Given the description of an element on the screen output the (x, y) to click on. 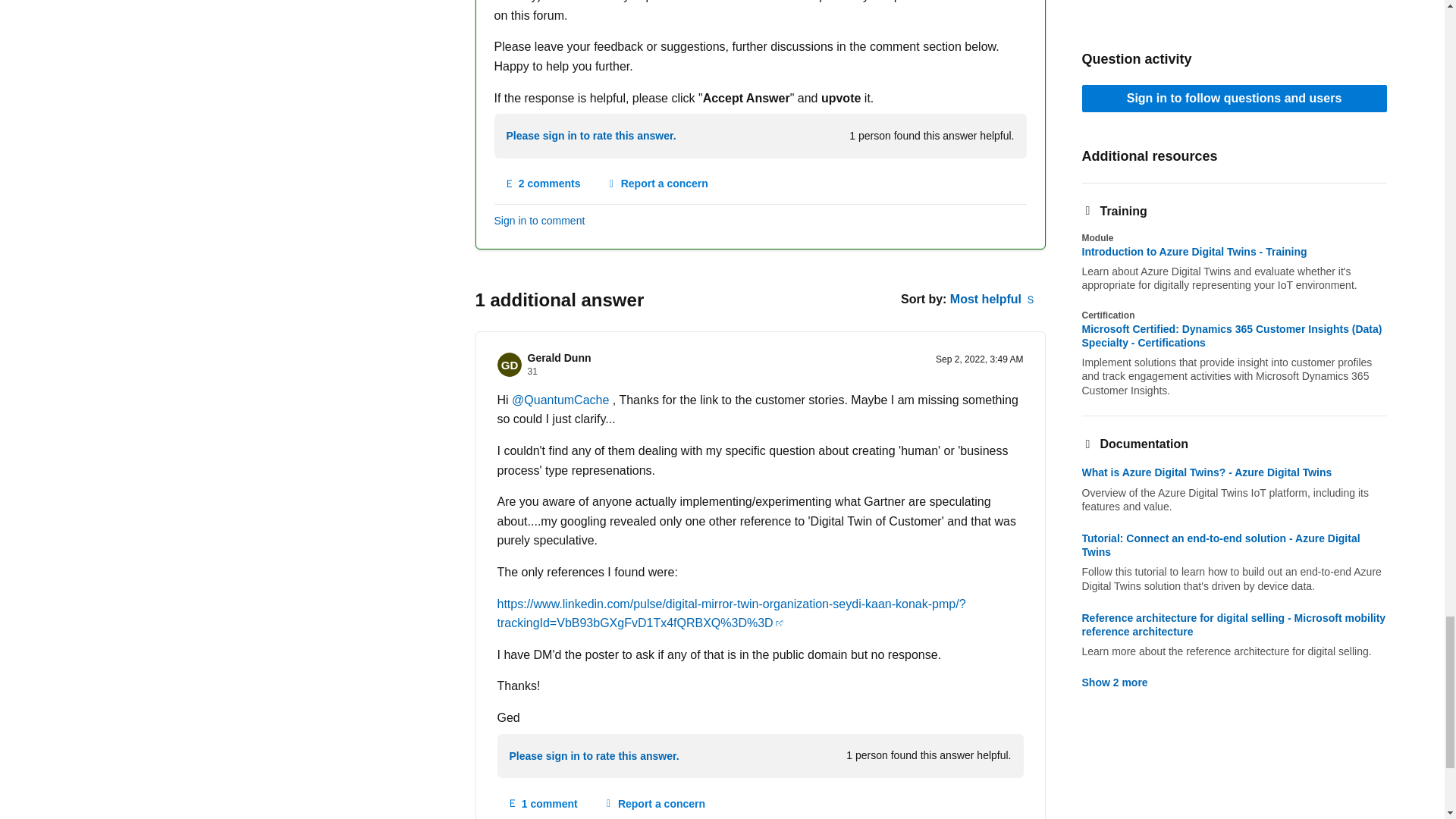
Show comments for this answer (543, 184)
Report a concern (656, 184)
